Given the description of an element on the screen output the (x, y) to click on. 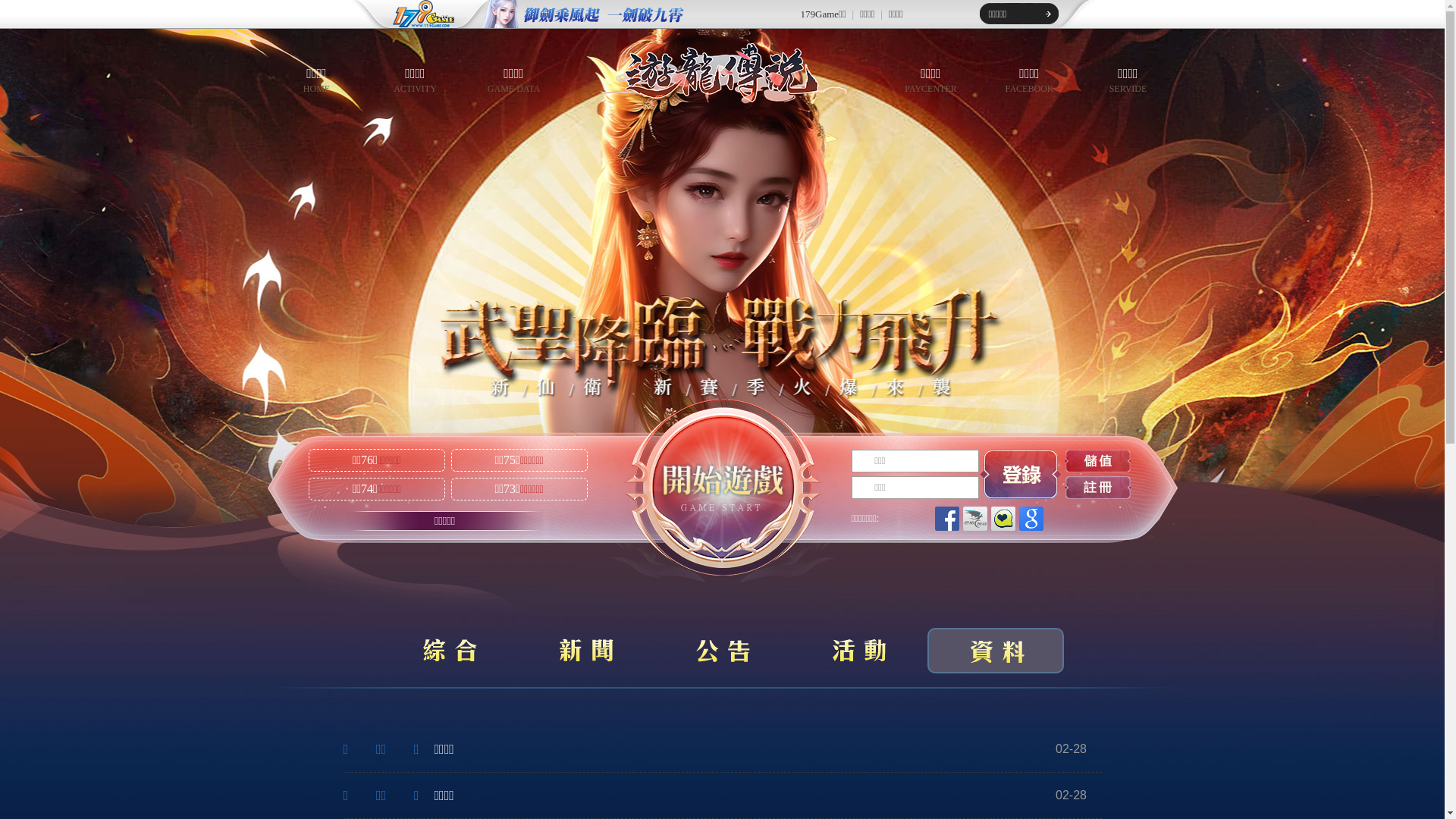
179game Element type: text (412, 14)
